Given the description of an element on the screen output the (x, y) to click on. 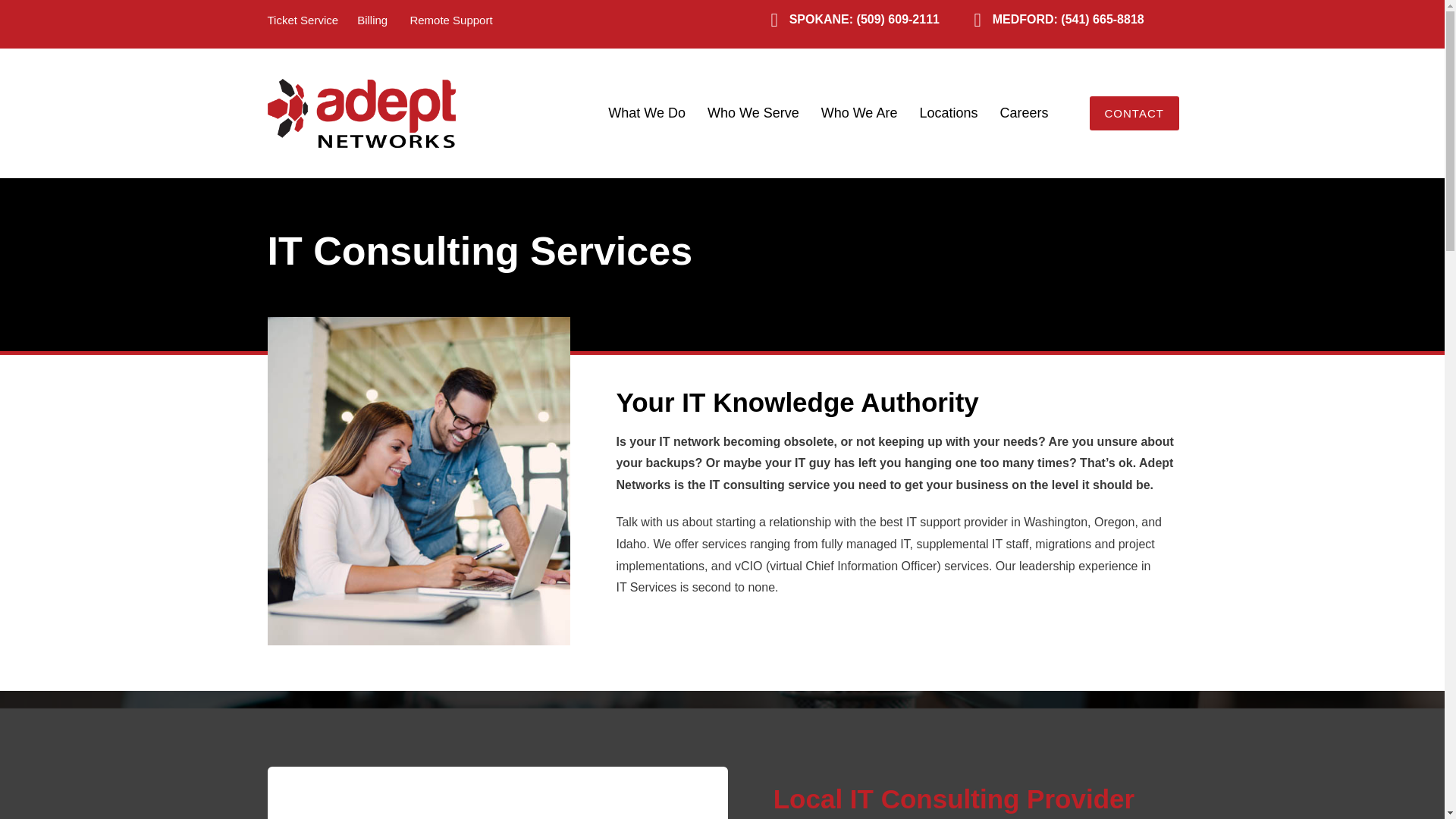
Who We Serve (753, 112)
Who We Are (859, 112)
Click Here (1133, 113)
Remote Support (450, 19)
adept-networks-logo-1 (360, 113)
Careers (1023, 112)
Ticket Service (301, 19)
it-consulting-services (418, 480)
What We Do (645, 112)
Billing (371, 19)
Locations (948, 112)
